Given the description of an element on the screen output the (x, y) to click on. 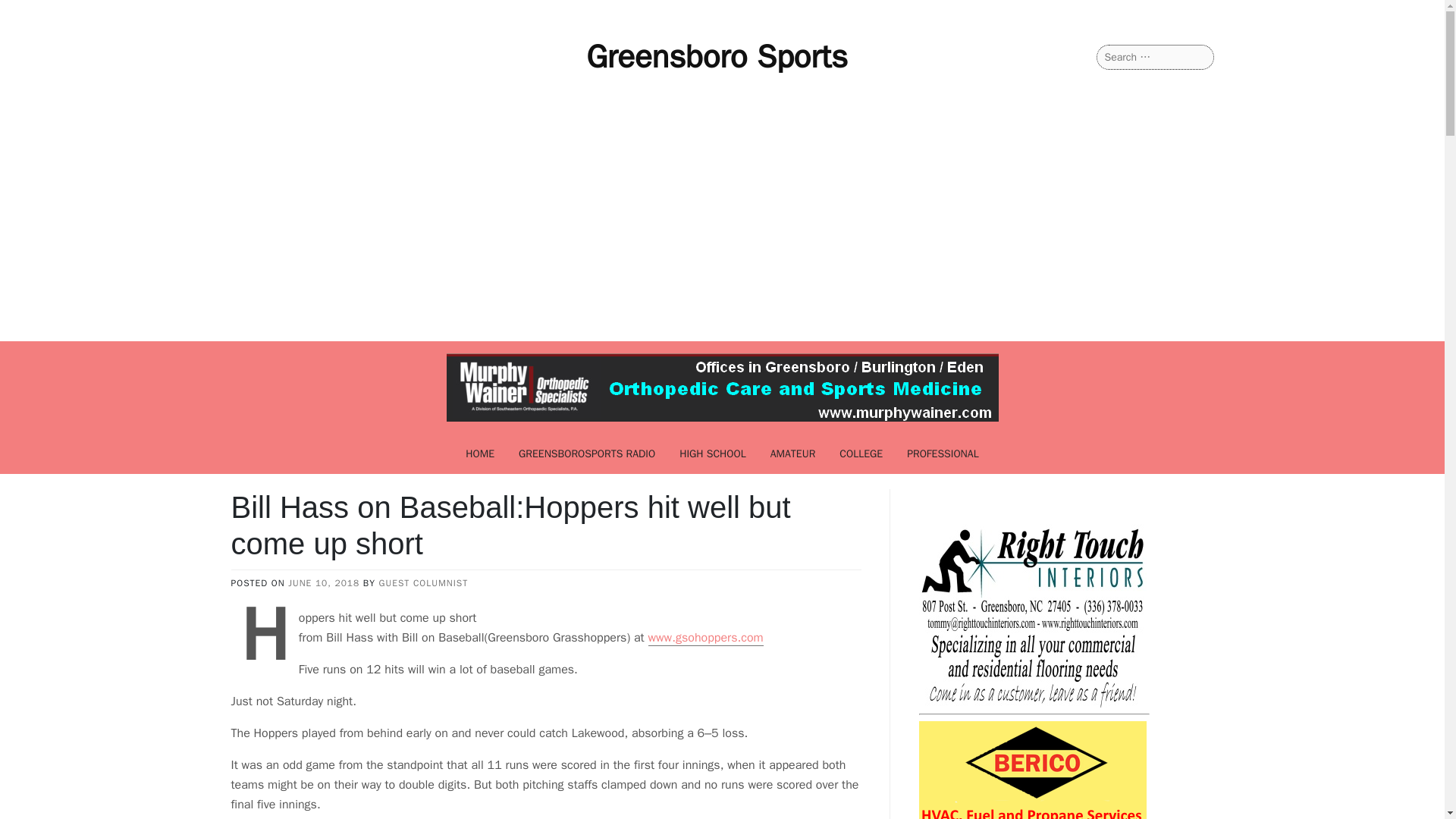
Search (31, 12)
JUNE 10, 2018 (323, 582)
HIGH SCHOOL (712, 454)
Search (30, 12)
COLLEGE (861, 454)
PROFESSIONAL (943, 454)
GUEST COLUMNIST (423, 582)
Greensboro Sports (716, 56)
GREENSBOROSPORTS RADIO (586, 454)
www.gsohoppers.com (704, 637)
AMATEUR (793, 454)
HOME (479, 454)
